Given the description of an element on the screen output the (x, y) to click on. 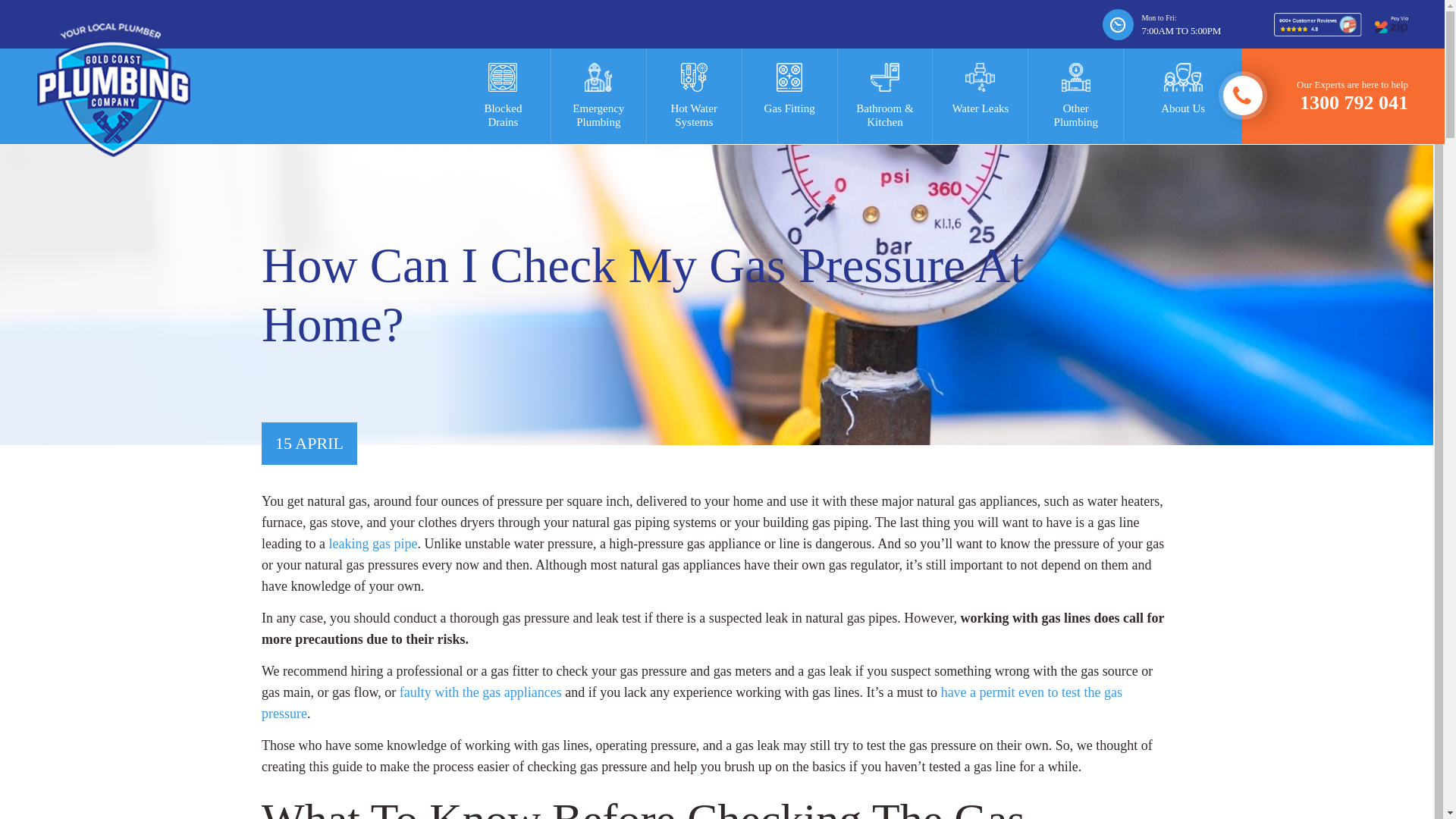
Call GCPC (598, 96)
Clock (1324, 96)
Customer Reviews Graphic (1074, 96)
